Given the description of an element on the screen output the (x, y) to click on. 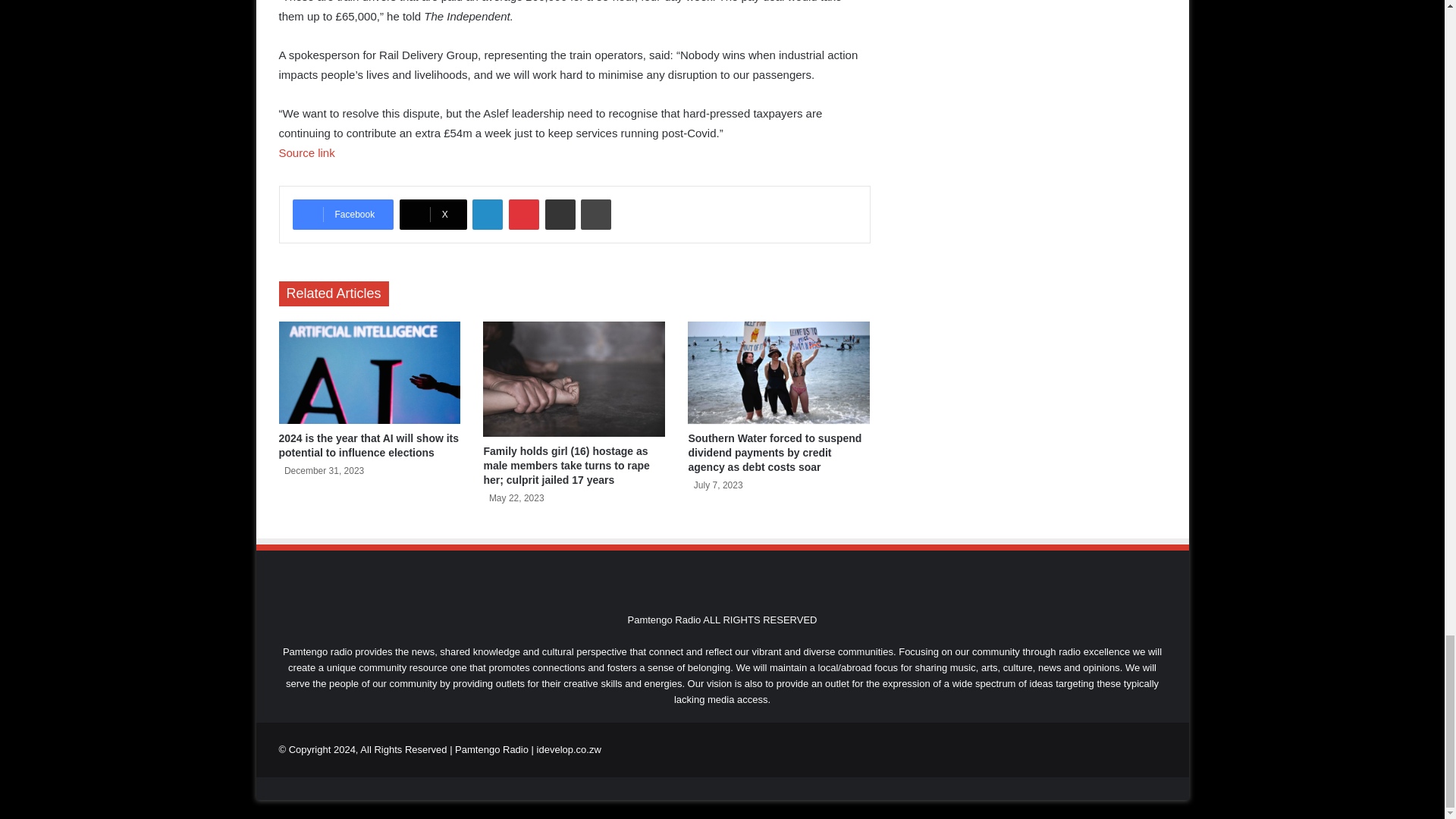
Print (595, 214)
Pinterest (523, 214)
Share via Email (559, 214)
LinkedIn (486, 214)
X (432, 214)
Share via Email (559, 214)
Print (595, 214)
Pinterest (523, 214)
Source link (306, 152)
